Given the description of an element on the screen output the (x, y) to click on. 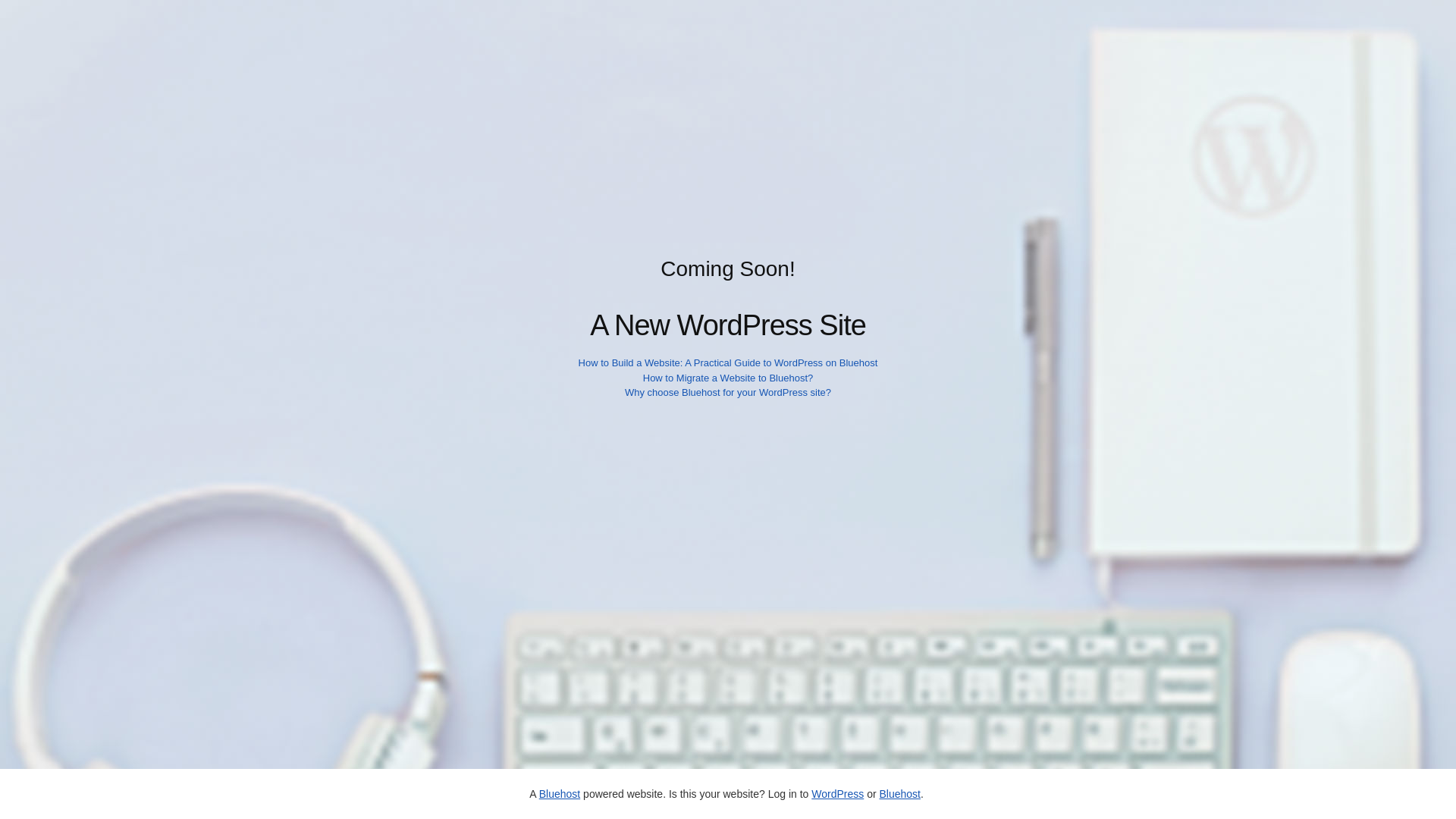
How to Migrate a Website to Bluehost? (728, 378)
Bluehost (558, 793)
Bluehost (899, 793)
WordPress (836, 793)
Why choose Bluehost for your WordPress site? (727, 392)
